Given the description of an element on the screen output the (x, y) to click on. 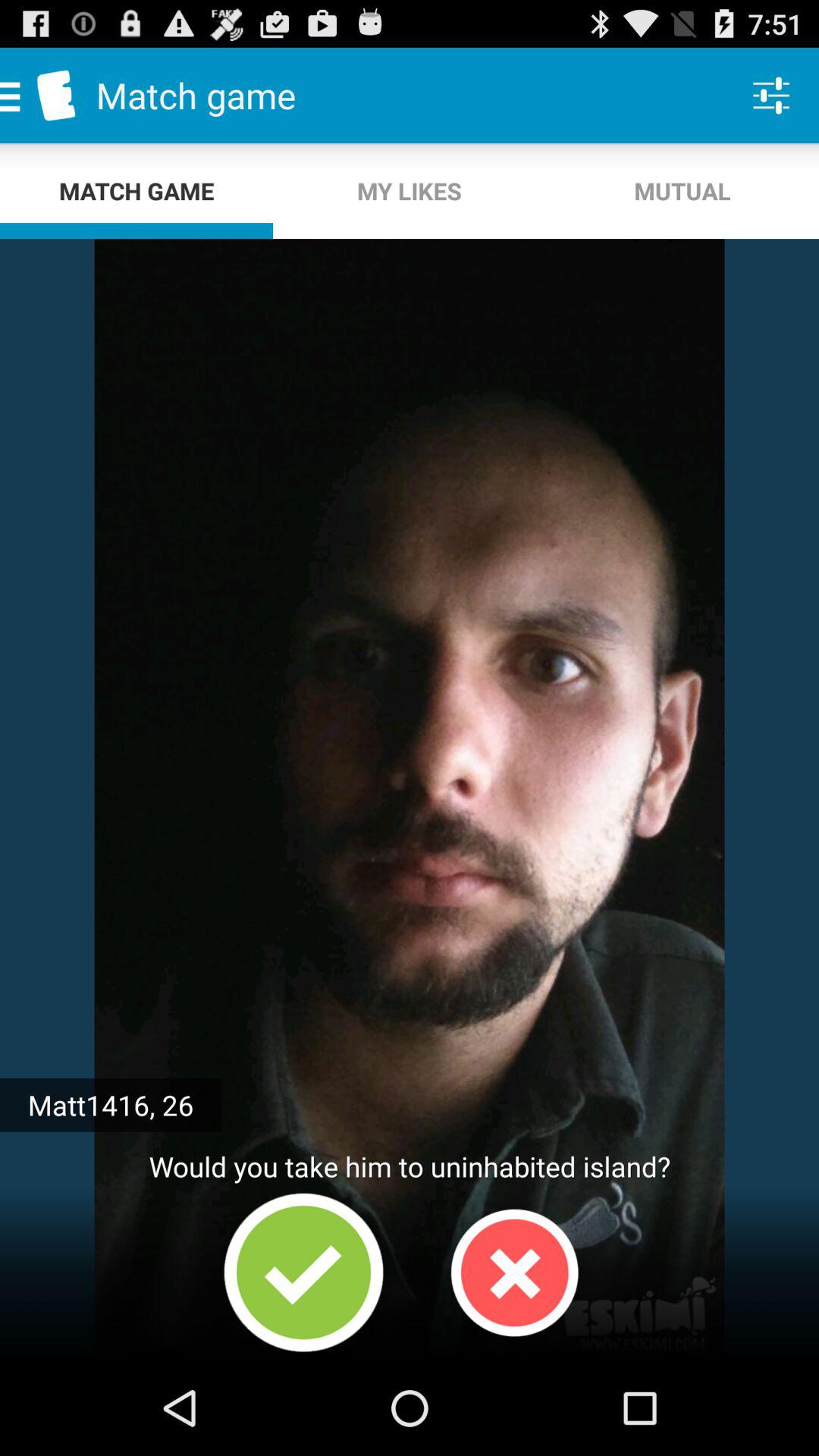
launch the icon next to my likes item (771, 95)
